Given the description of an element on the screen output the (x, y) to click on. 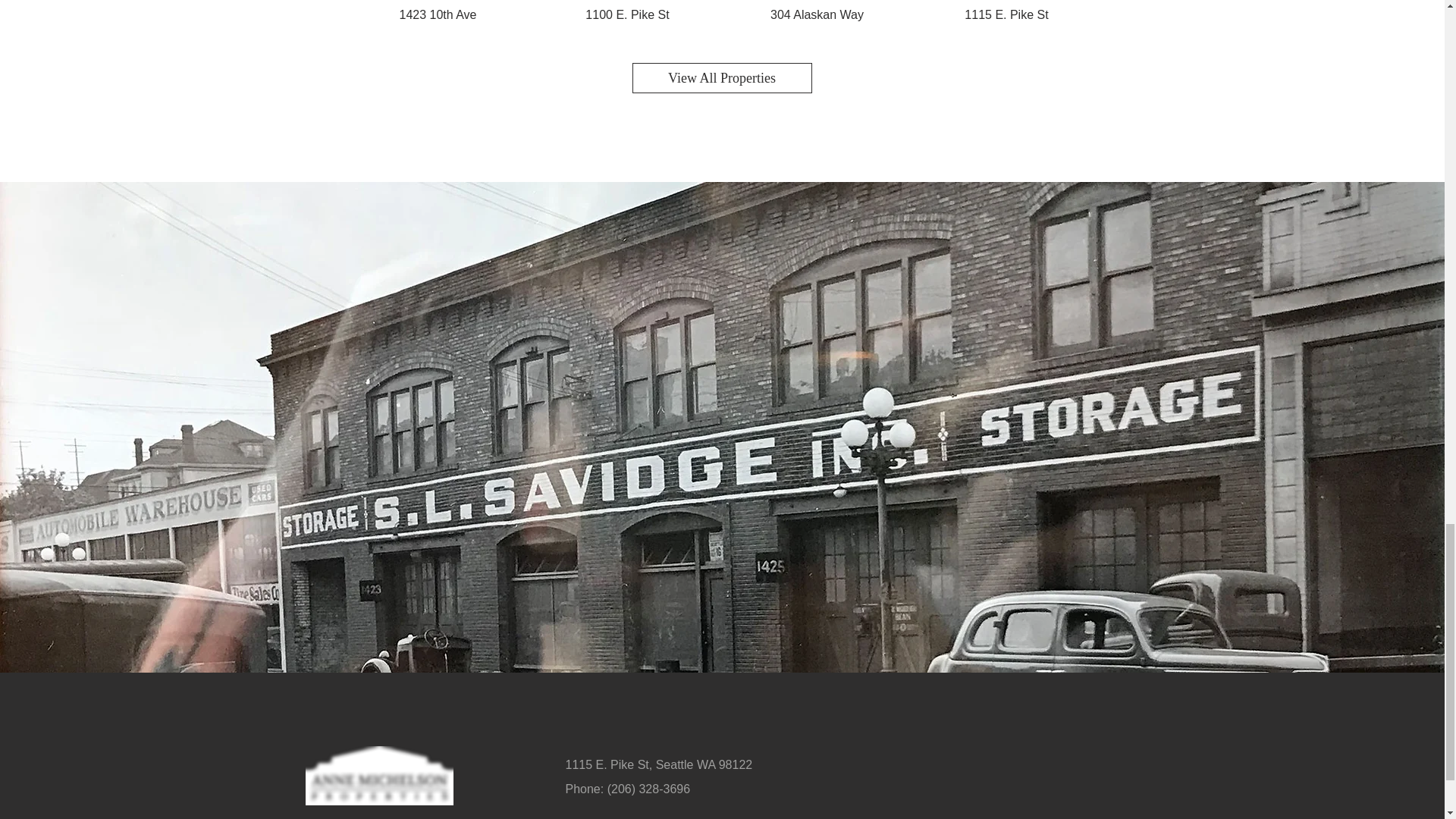
View All Properties (721, 78)
